Given the description of an element on the screen output the (x, y) to click on. 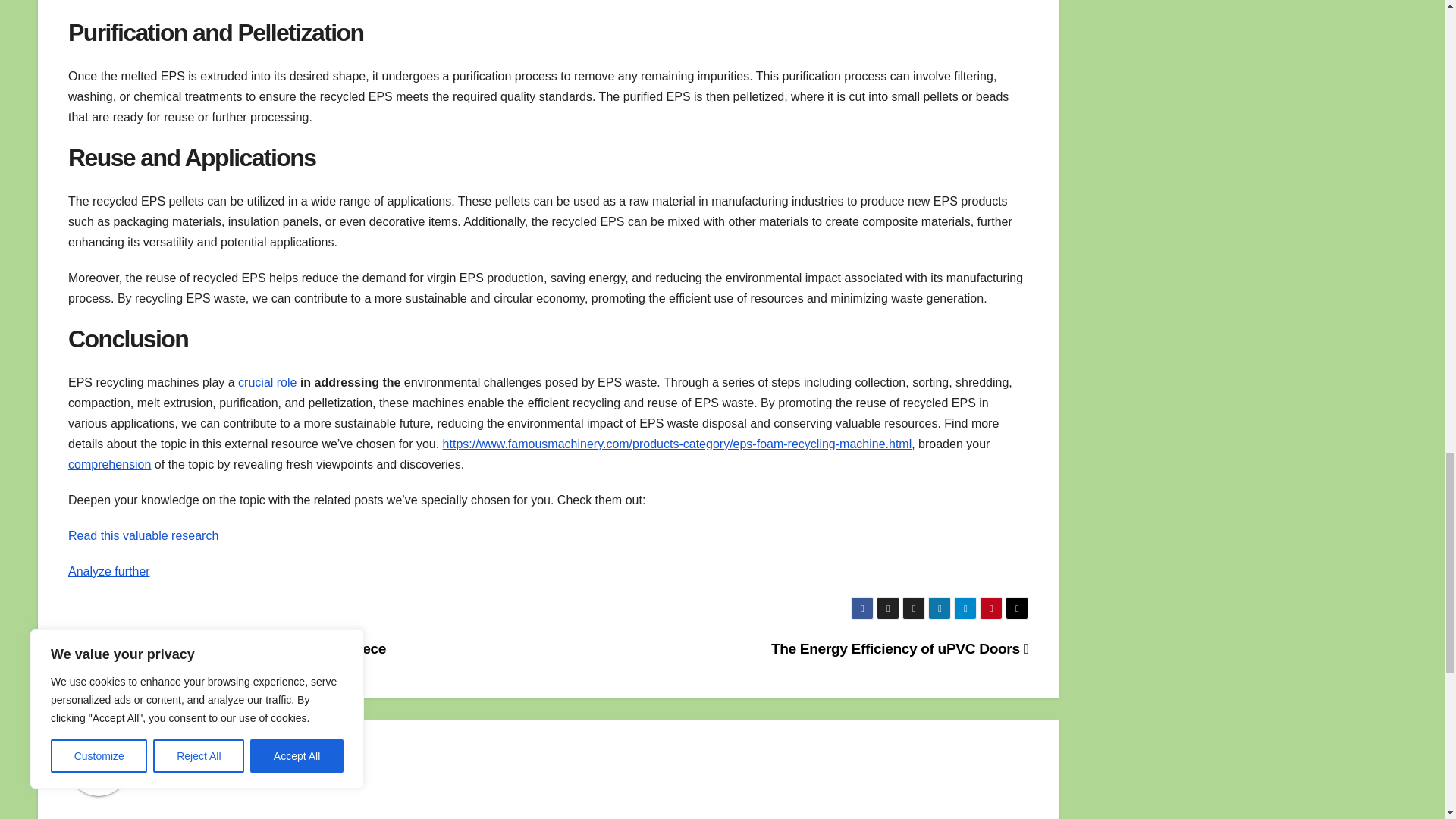
crucial role (267, 382)
Read this valuable research (143, 535)
Analyze further (108, 571)
comprehension (109, 463)
